Given the description of an element on the screen output the (x, y) to click on. 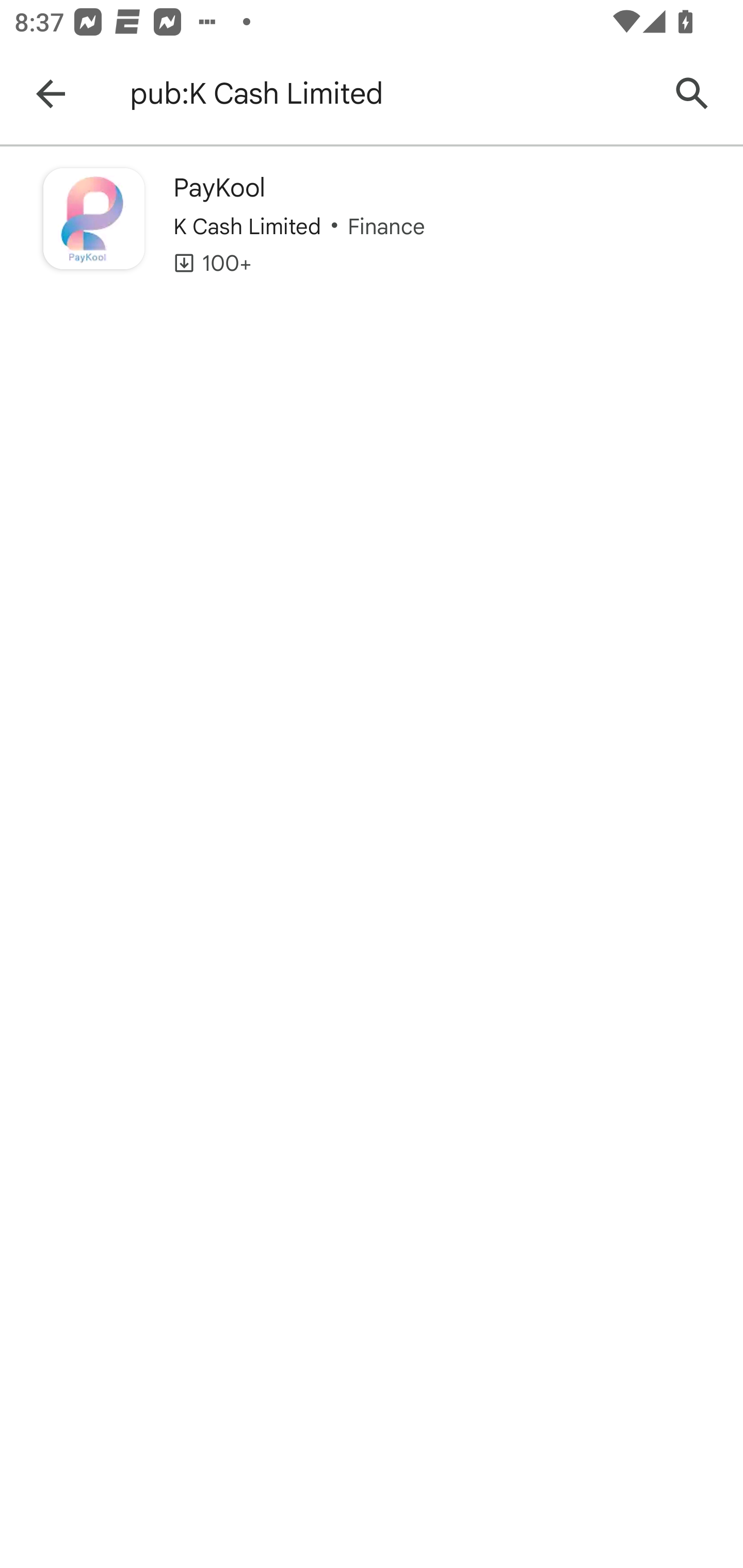
pub:K Cash Limited (389, 93)
Navigate up (50, 93)
Search Google Play (692, 93)
